Given the description of an element on the screen output the (x, y) to click on. 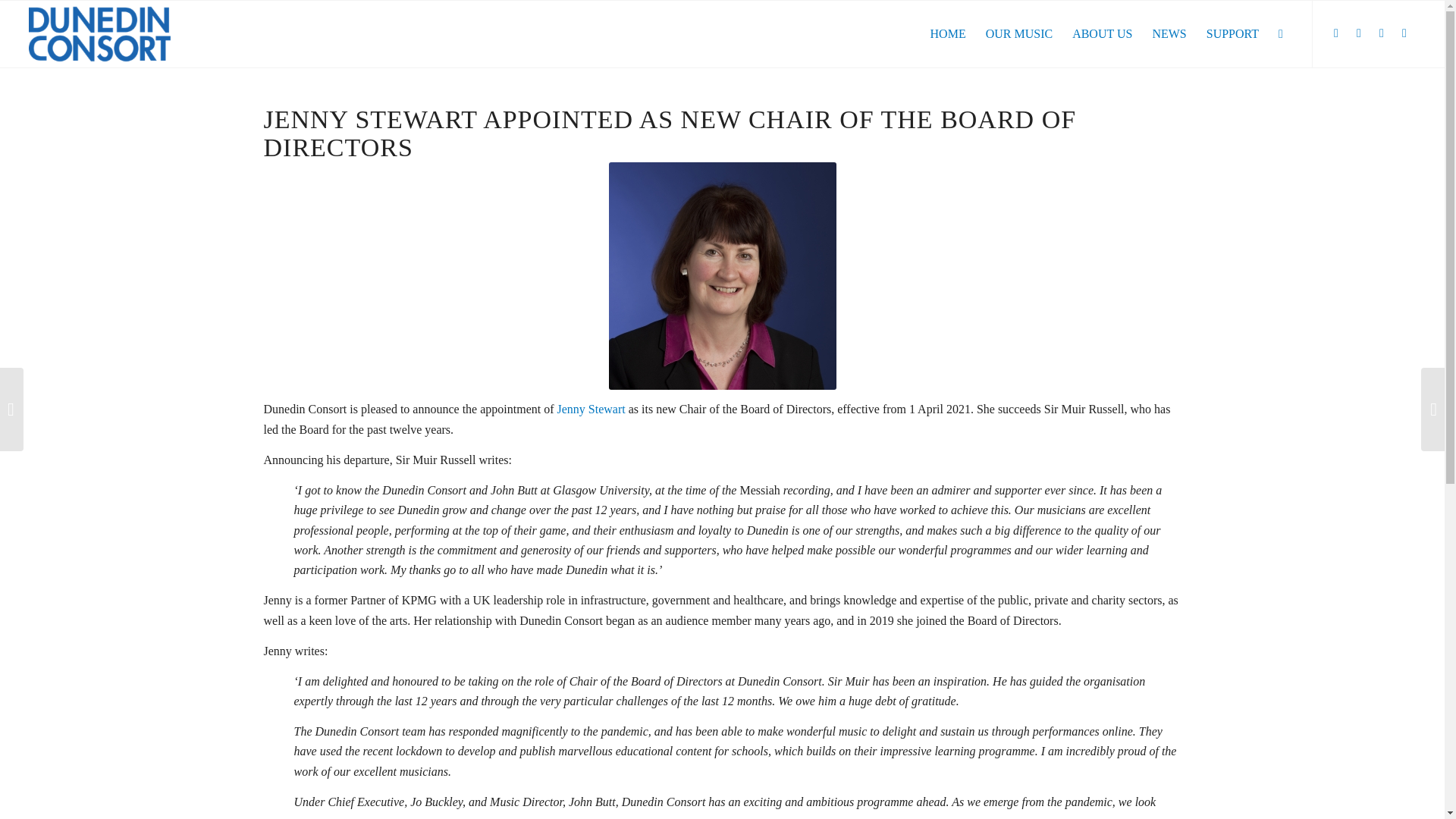
Facebook (1359, 33)
Jenny Stewart Photo 2 copy (721, 275)
ABOUT US (1101, 33)
Youtube (1404, 33)
Twitter (1336, 33)
Instagram (1381, 33)
OUR MUSIC (1018, 33)
